Given the description of an element on the screen output the (x, y) to click on. 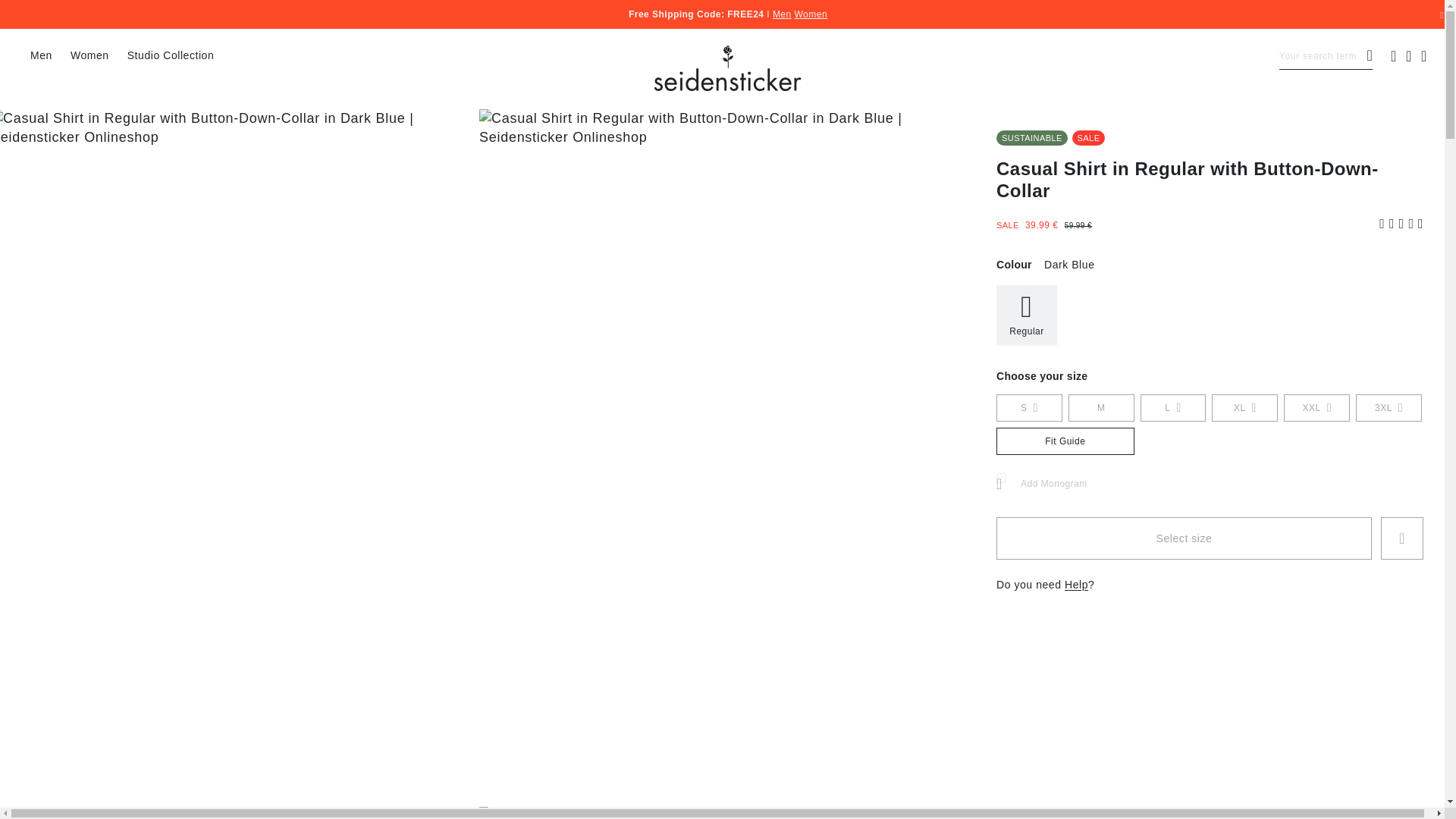
Please choose a size (1401, 537)
on (1000, 478)
Please choose a size (1183, 537)
